Given the description of an element on the screen output the (x, y) to click on. 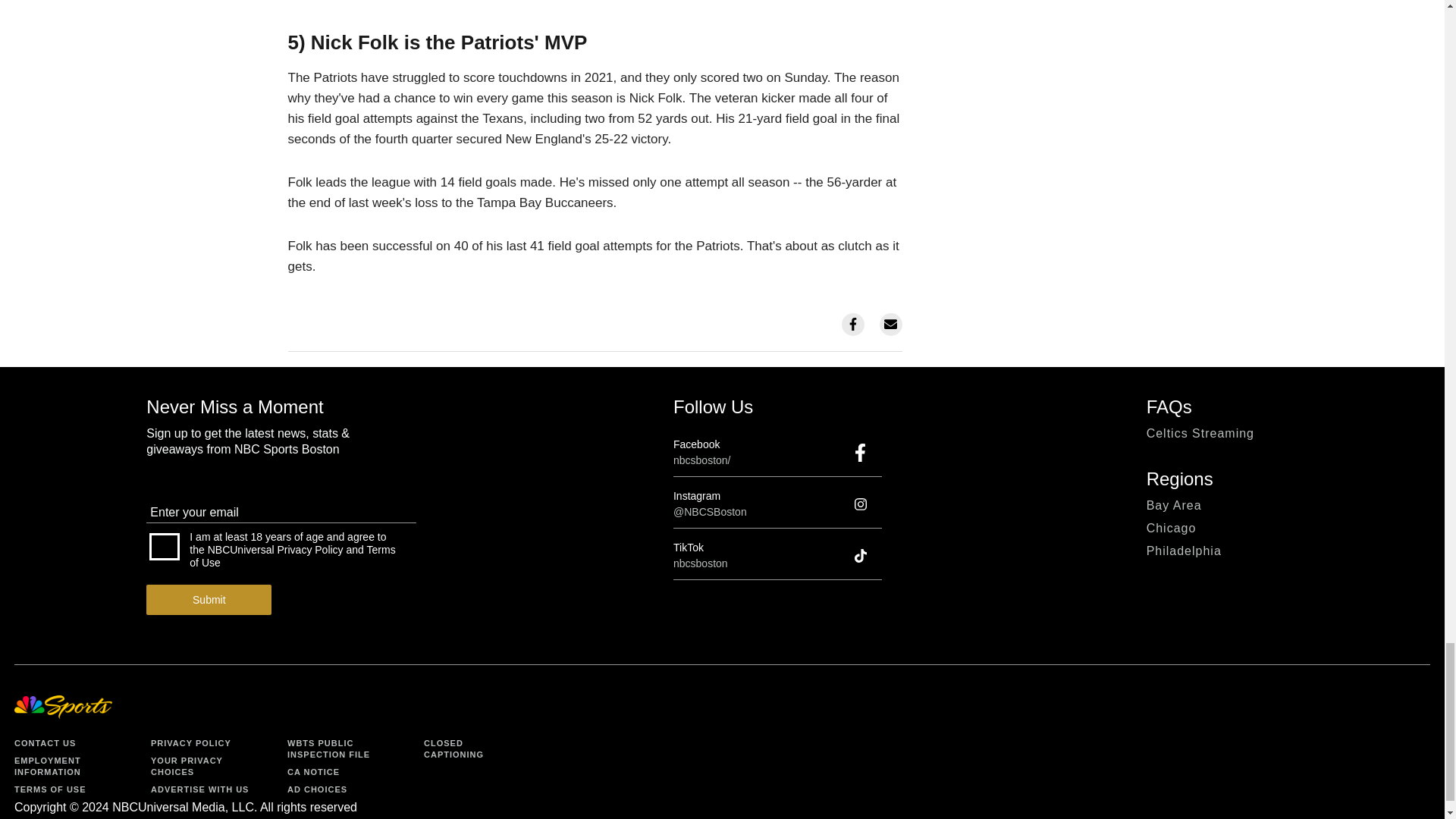
on (164, 546)
